Given the description of an element on the screen output the (x, y) to click on. 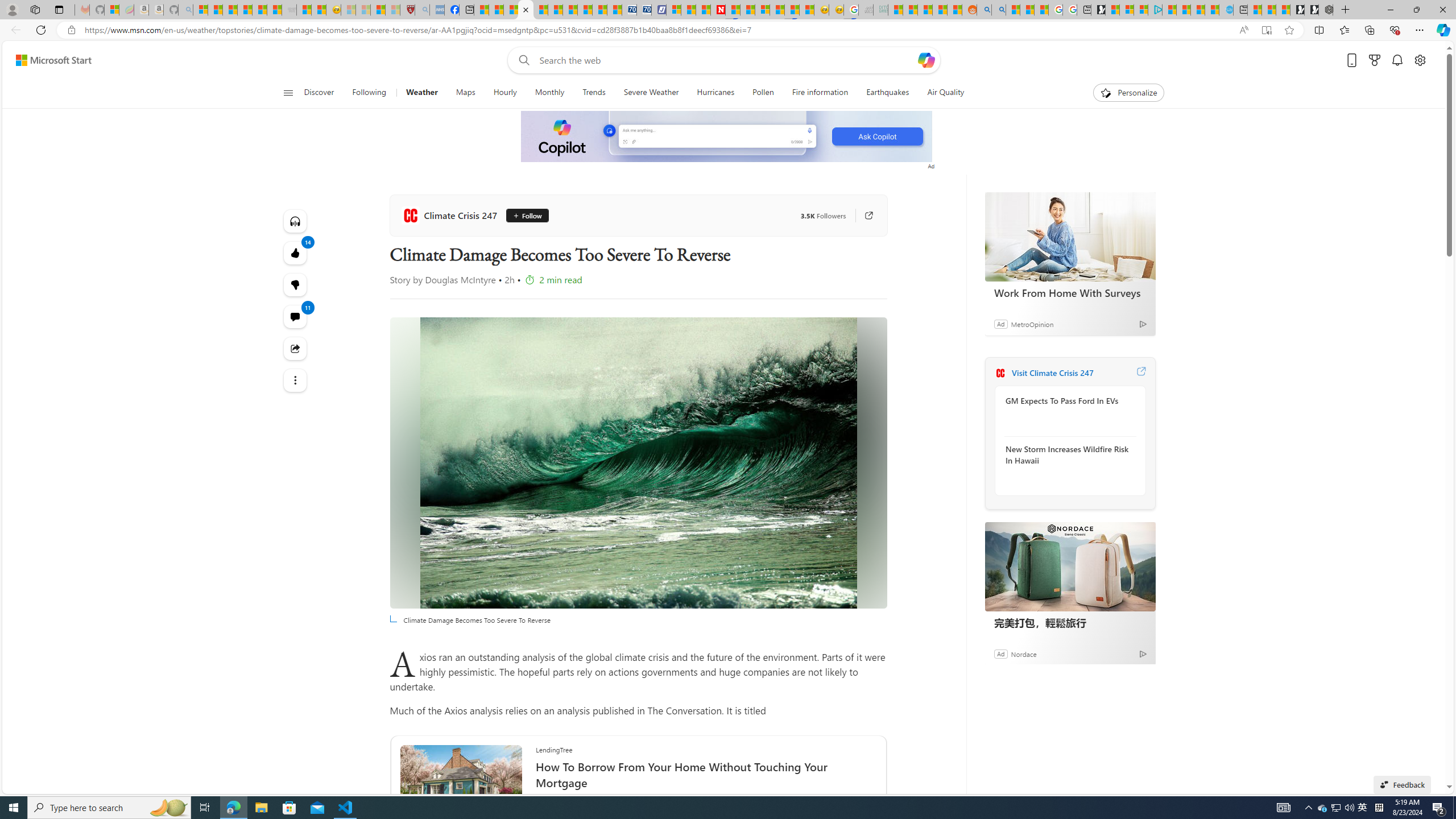
Visit Climate Crisis 247 website (1140, 372)
